Given the description of an element on the screen output the (x, y) to click on. 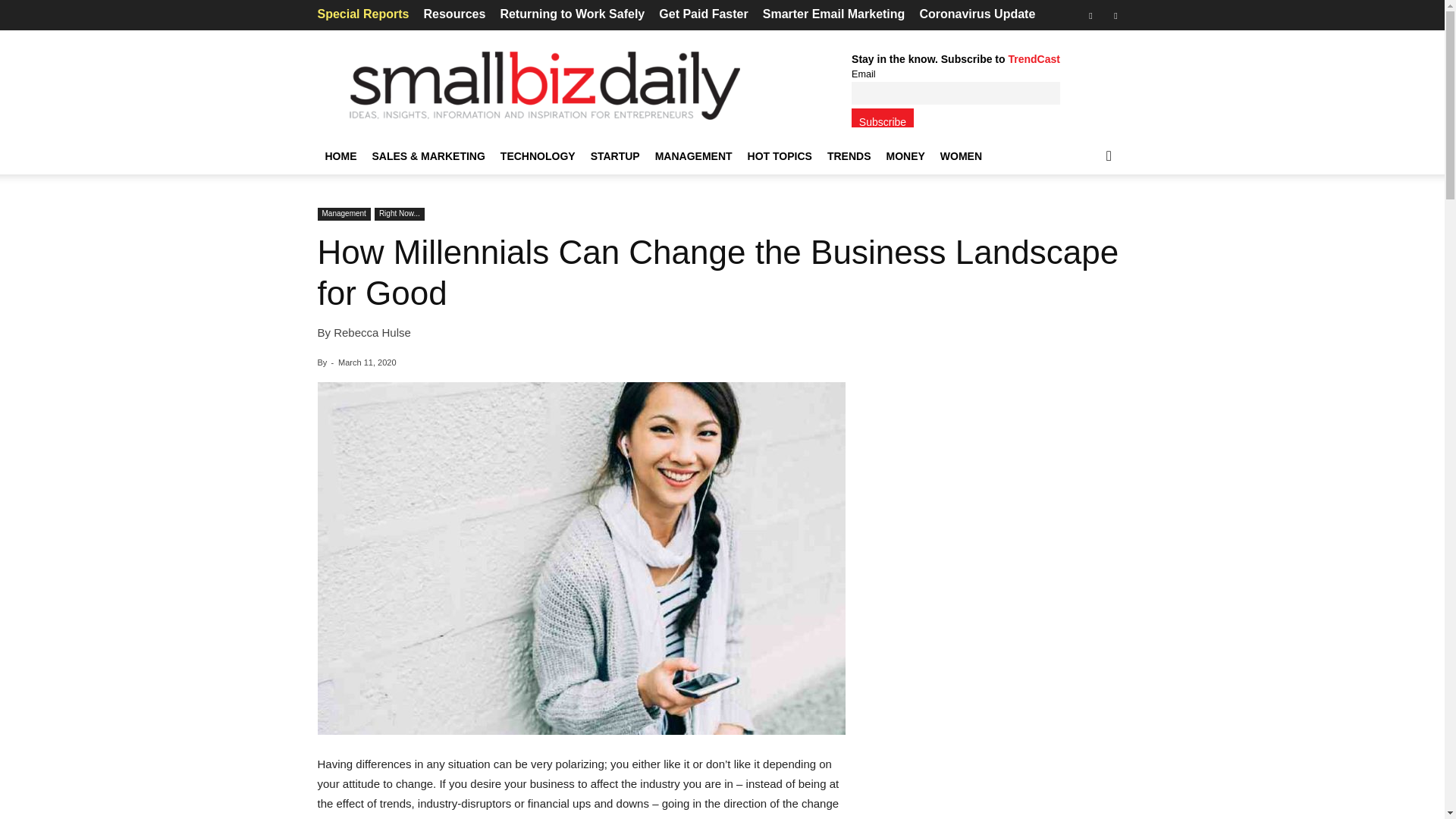
Resources (453, 13)
MONEY (904, 156)
Subscribe (882, 117)
MANAGEMENT (693, 156)
Coronavirus Update (976, 13)
Returning to Work Safely (572, 13)
HOME (340, 156)
WOMEN (961, 156)
Facebook (1090, 14)
HOT TOPICS (779, 156)
Subscribe (882, 117)
Special Reports (363, 13)
TRENDS (849, 156)
TECHNOLOGY (538, 156)
STARTUP (615, 156)
